Given the description of an element on the screen output the (x, y) to click on. 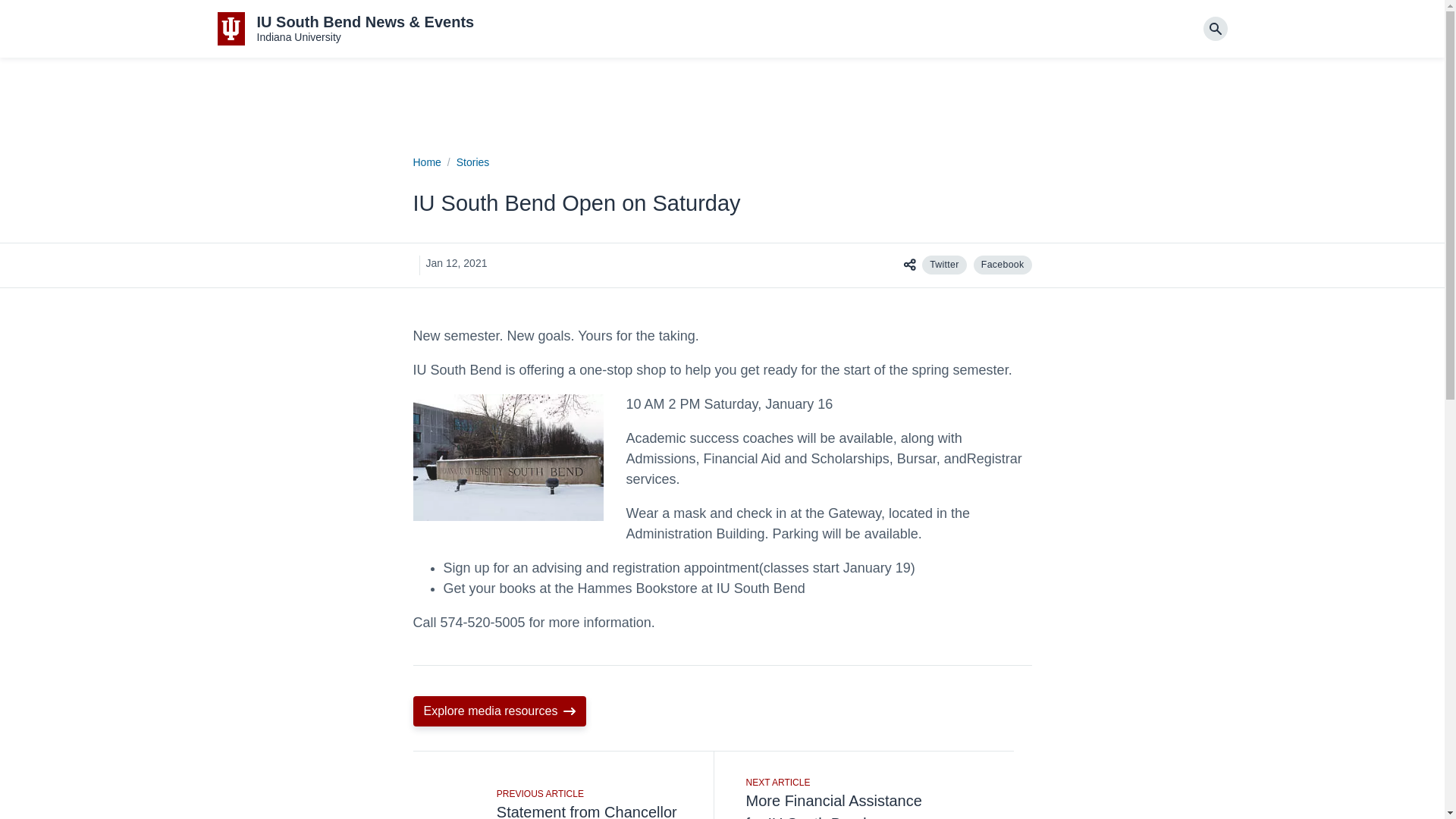
Explore media resources (499, 711)
Home (426, 162)
Hub icon (908, 263)
Stories (473, 162)
Search (1214, 28)
Facebook (1003, 264)
Twitter (943, 264)
